Given the description of an element on the screen output the (x, y) to click on. 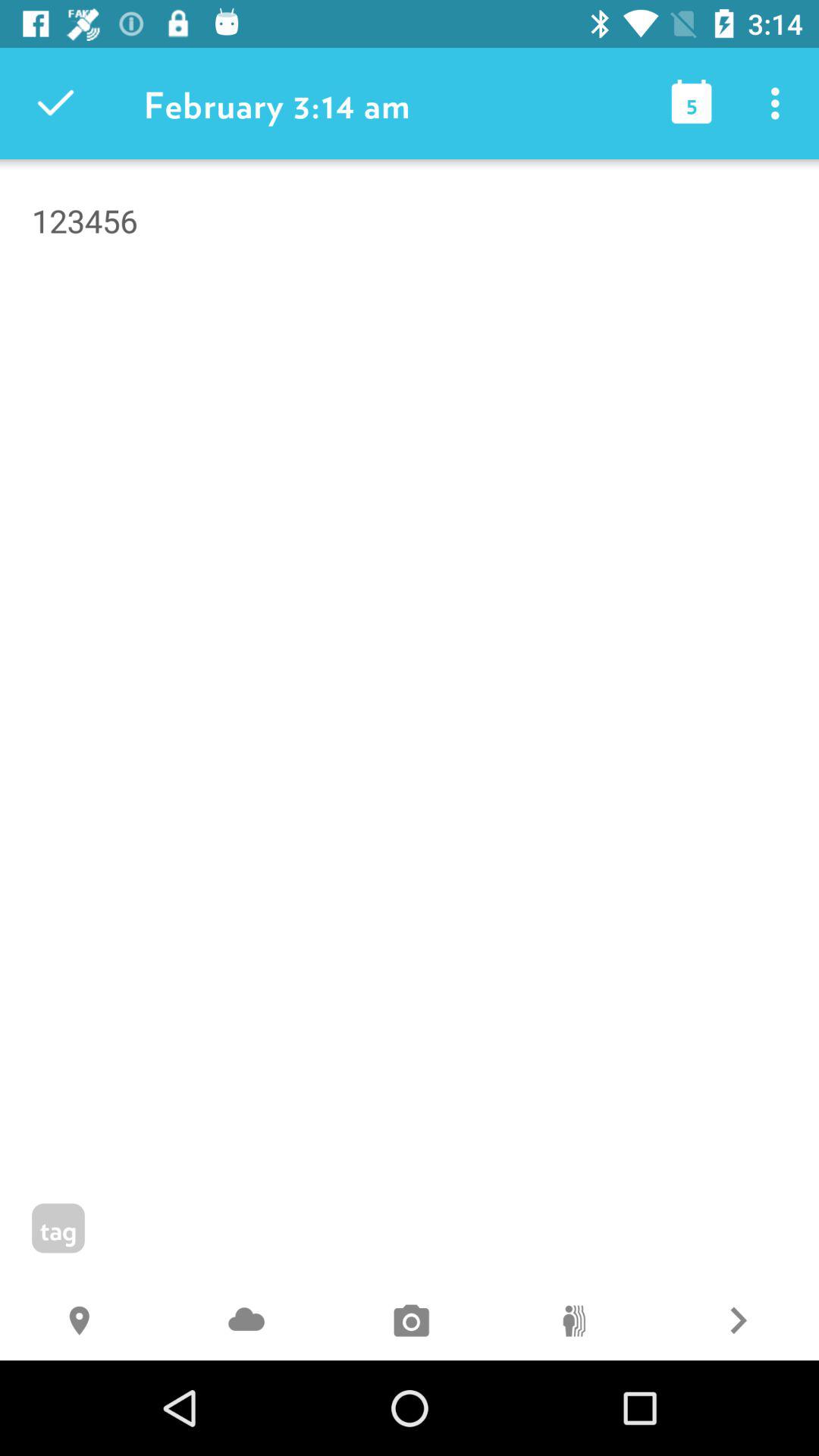
select the icon next to the r (573, 1322)
